Given the description of an element on the screen output the (x, y) to click on. 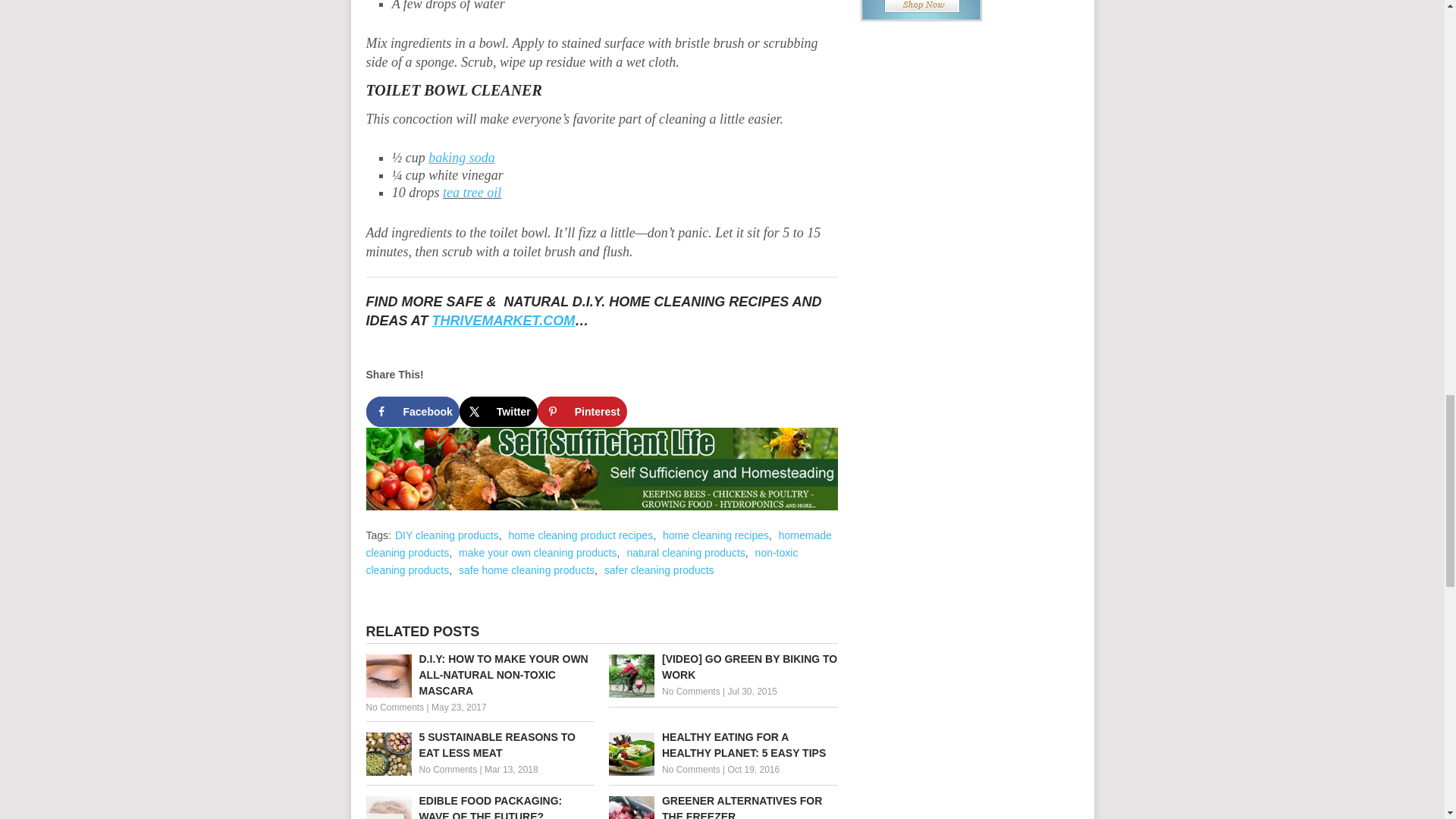
Share on X (498, 411)
Share on Facebook (411, 411)
Save to Pinterest (582, 411)
